Given the description of an element on the screen output the (x, y) to click on. 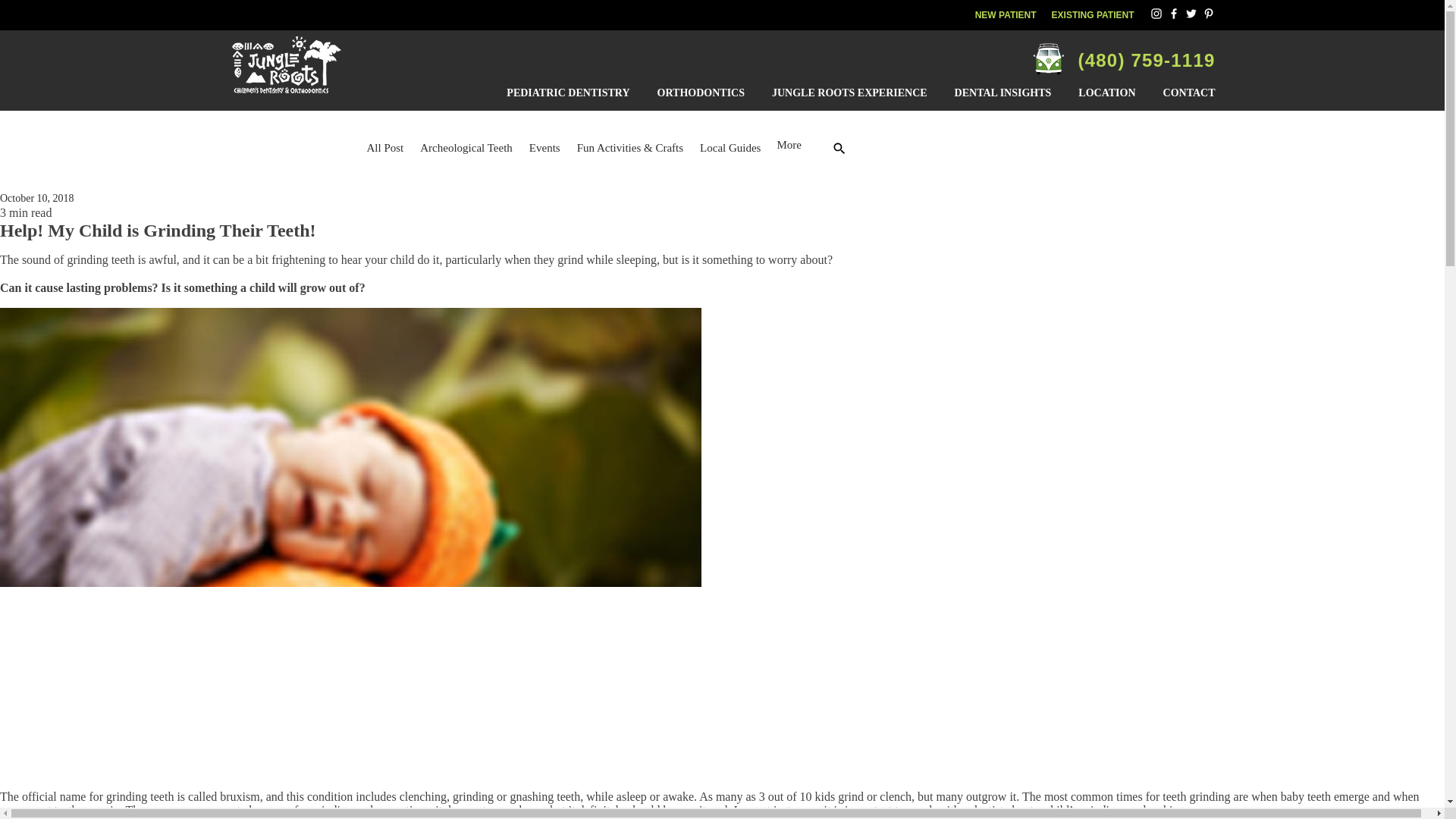
CONTACT (1182, 92)
Events (544, 148)
PEDIATRIC DENTISTRY (568, 92)
DENTAL INSIGHTS (1002, 92)
Local Guides (730, 148)
LOCATION (1106, 92)
JUNGLE ROOTS EXPERIENCE (849, 92)
ORTHODONTICS (700, 92)
EXISTING PATIENT (1092, 15)
All Post (385, 148)
